Given the description of an element on the screen output the (x, y) to click on. 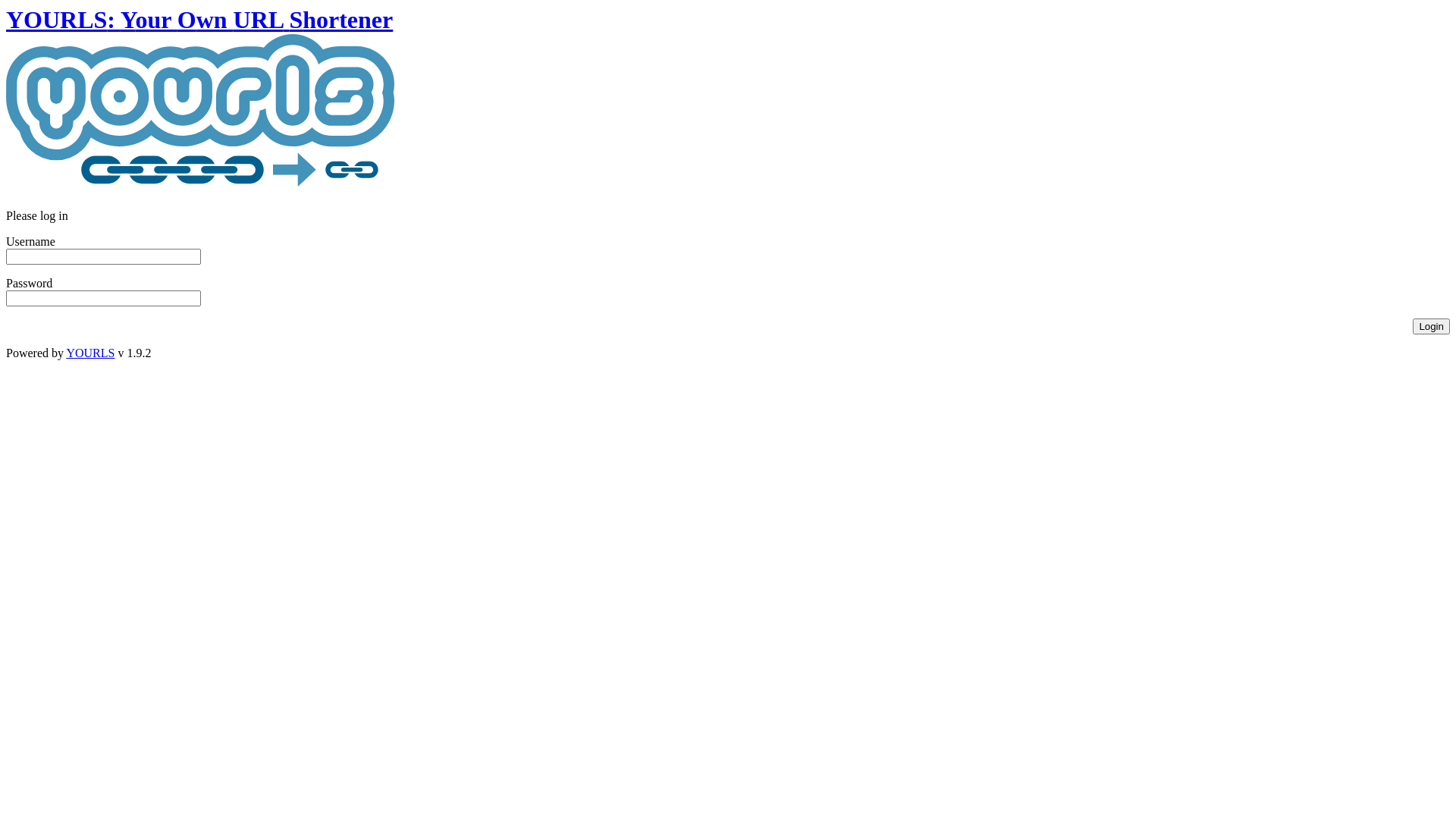
Login Element type: text (1430, 326)
YOURLS Element type: text (89, 352)
YOURLS: Your Own URL Shortener Element type: text (200, 102)
YOURLS Element type: hover (200, 113)
